Given the description of an element on the screen output the (x, y) to click on. 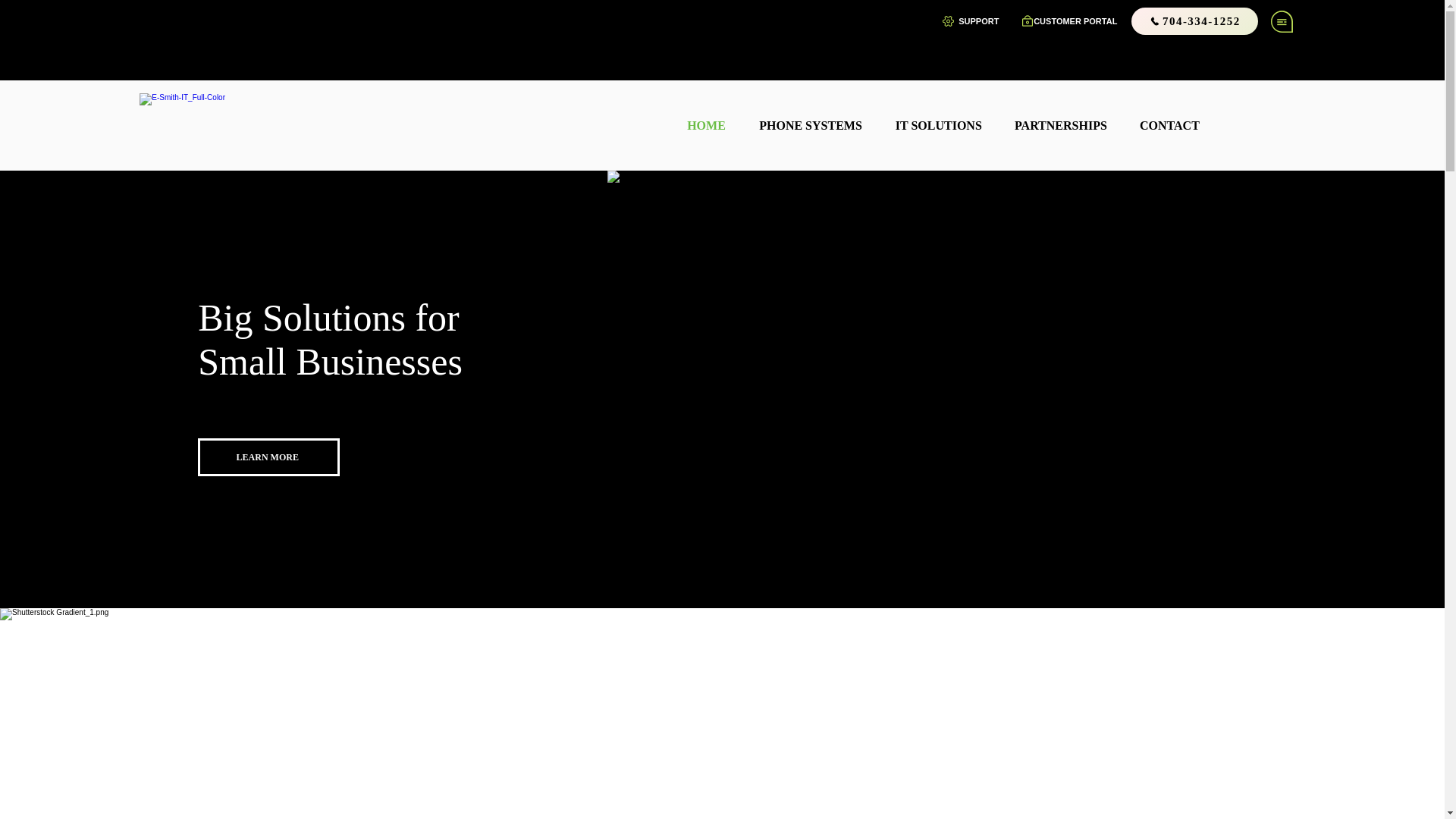
SUPPORT (978, 20)
PHONE SYSTEMS (804, 125)
LEARN MORE (268, 456)
CUSTOMER PORTAL (1074, 20)
IT Managed Services (713, 766)
HOME (700, 125)
704-334-1252 (1194, 21)
PARTNERSHIPS (1055, 125)
North Carolina (724, 746)
Business Phone Systems (938, 756)
